Given the description of an element on the screen output the (x, y) to click on. 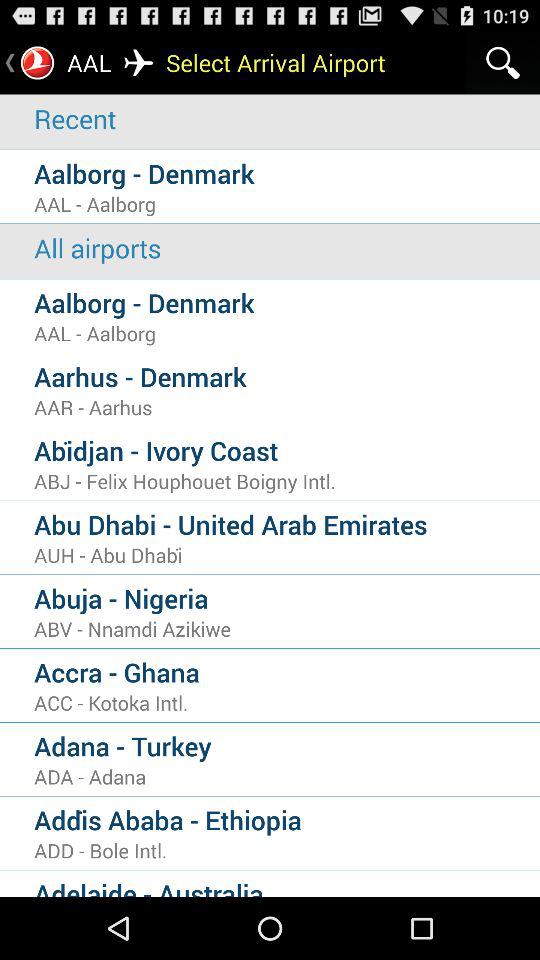
go back (10, 62)
